Given the description of an element on the screen output the (x, y) to click on. 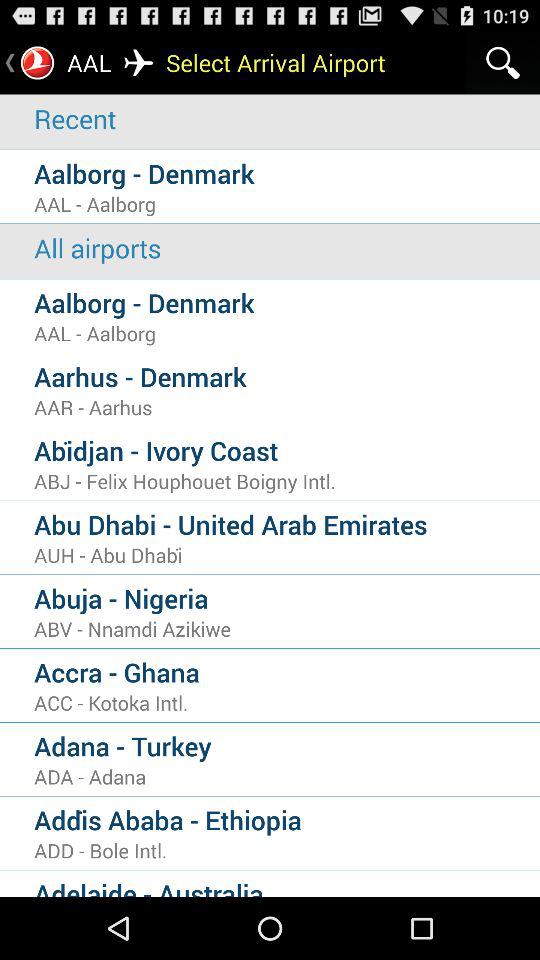
go back (10, 62)
